Given the description of an element on the screen output the (x, y) to click on. 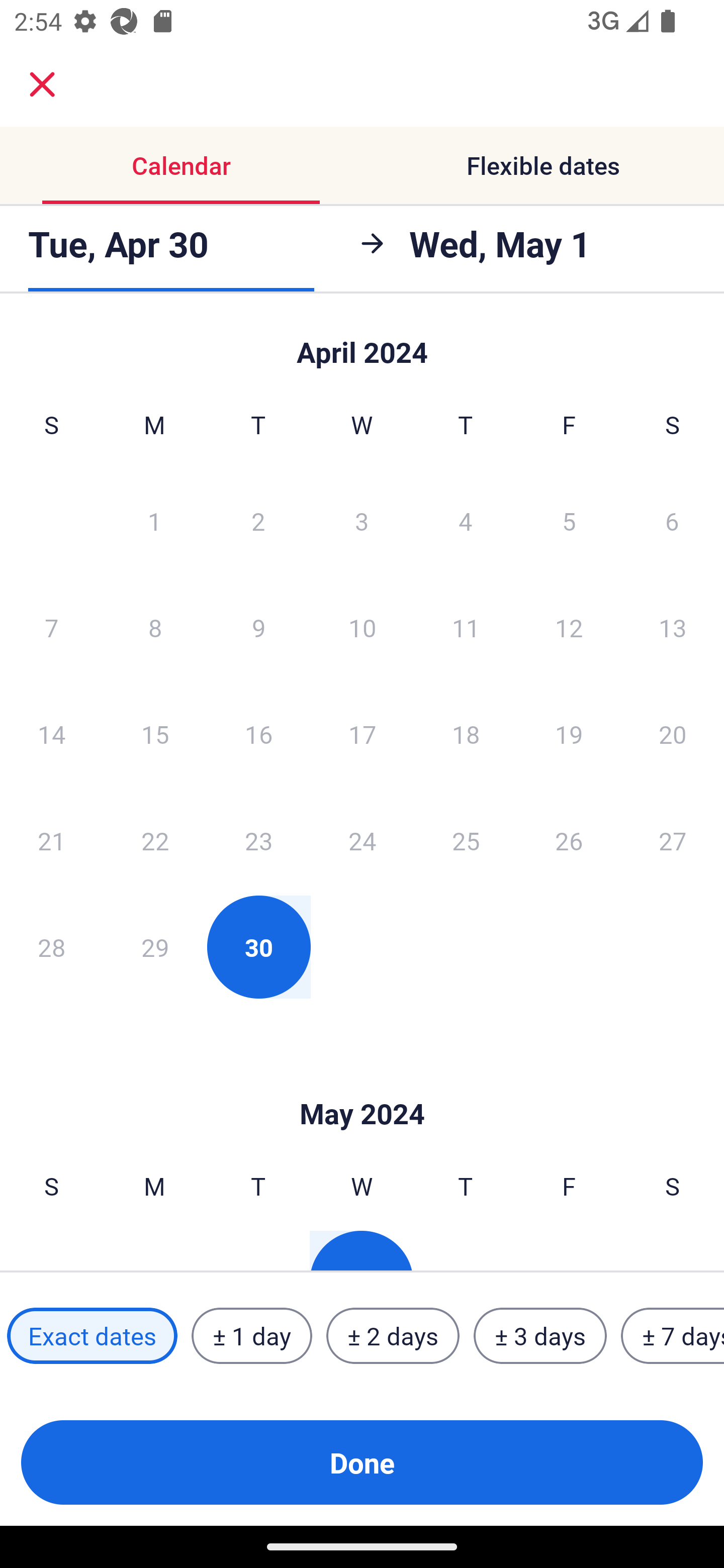
close. (42, 84)
Flexible dates (542, 164)
Skip to Done (362, 343)
1 Monday, April 1, 2024 (154, 520)
2 Tuesday, April 2, 2024 (257, 520)
3 Wednesday, April 3, 2024 (361, 520)
4 Thursday, April 4, 2024 (465, 520)
5 Friday, April 5, 2024 (568, 520)
6 Saturday, April 6, 2024 (672, 520)
7 Sunday, April 7, 2024 (51, 626)
8 Monday, April 8, 2024 (155, 626)
9 Tuesday, April 9, 2024 (258, 626)
10 Wednesday, April 10, 2024 (362, 626)
11 Thursday, April 11, 2024 (465, 626)
12 Friday, April 12, 2024 (569, 626)
13 Saturday, April 13, 2024 (672, 626)
14 Sunday, April 14, 2024 (51, 733)
15 Monday, April 15, 2024 (155, 733)
16 Tuesday, April 16, 2024 (258, 733)
17 Wednesday, April 17, 2024 (362, 733)
18 Thursday, April 18, 2024 (465, 733)
19 Friday, April 19, 2024 (569, 733)
20 Saturday, April 20, 2024 (672, 733)
21 Sunday, April 21, 2024 (51, 840)
22 Monday, April 22, 2024 (155, 840)
23 Tuesday, April 23, 2024 (258, 840)
24 Wednesday, April 24, 2024 (362, 840)
25 Thursday, April 25, 2024 (465, 840)
26 Friday, April 26, 2024 (569, 840)
27 Saturday, April 27, 2024 (672, 840)
28 Sunday, April 28, 2024 (51, 946)
29 Monday, April 29, 2024 (155, 946)
Skip to Done (362, 1083)
Exact dates (92, 1335)
± 1 day (251, 1335)
± 2 days (392, 1335)
± 3 days (539, 1335)
± 7 days (672, 1335)
Done (361, 1462)
